Given the description of an element on the screen output the (x, y) to click on. 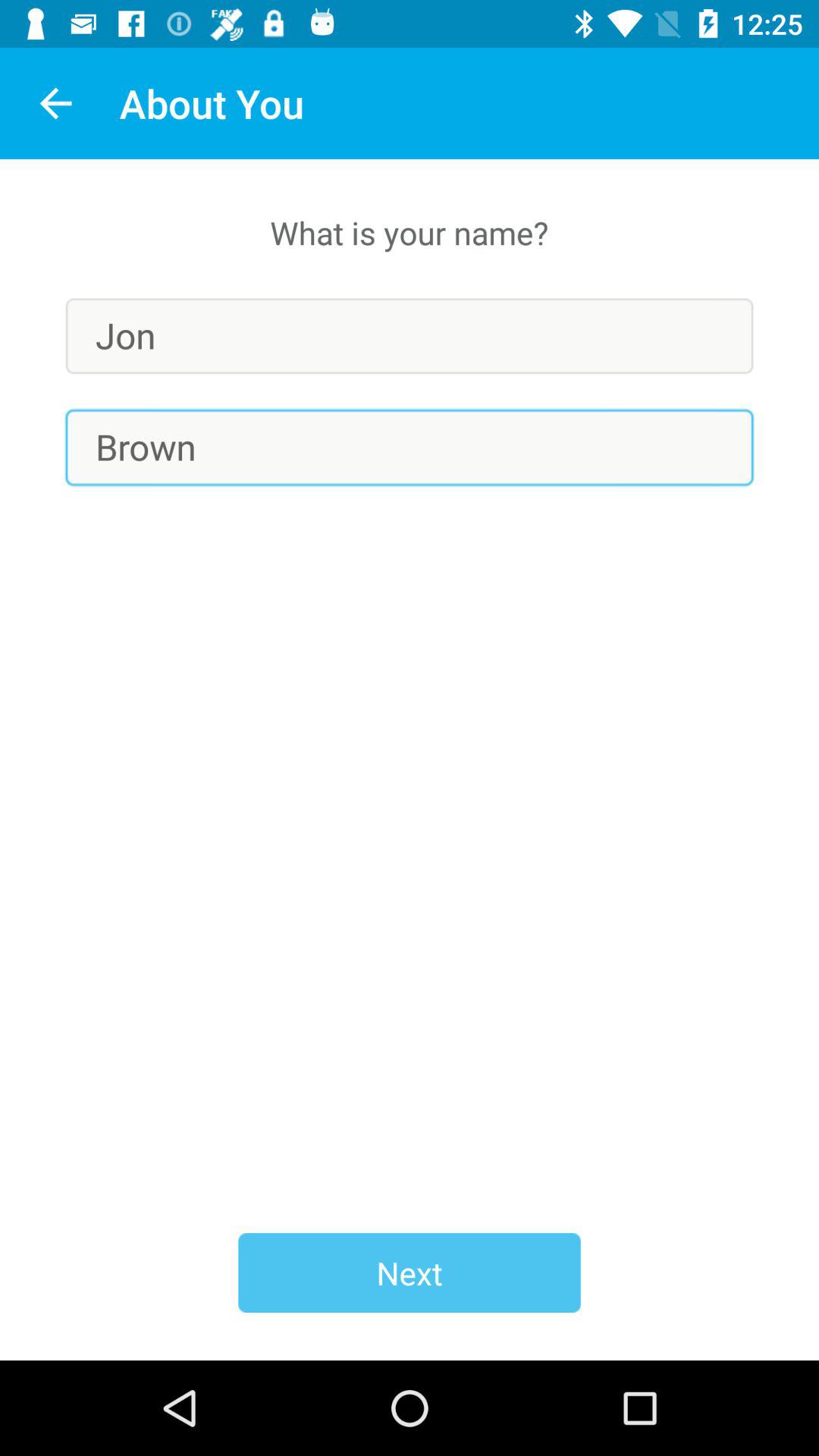
turn off the brown item (409, 447)
